Given the description of an element on the screen output the (x, y) to click on. 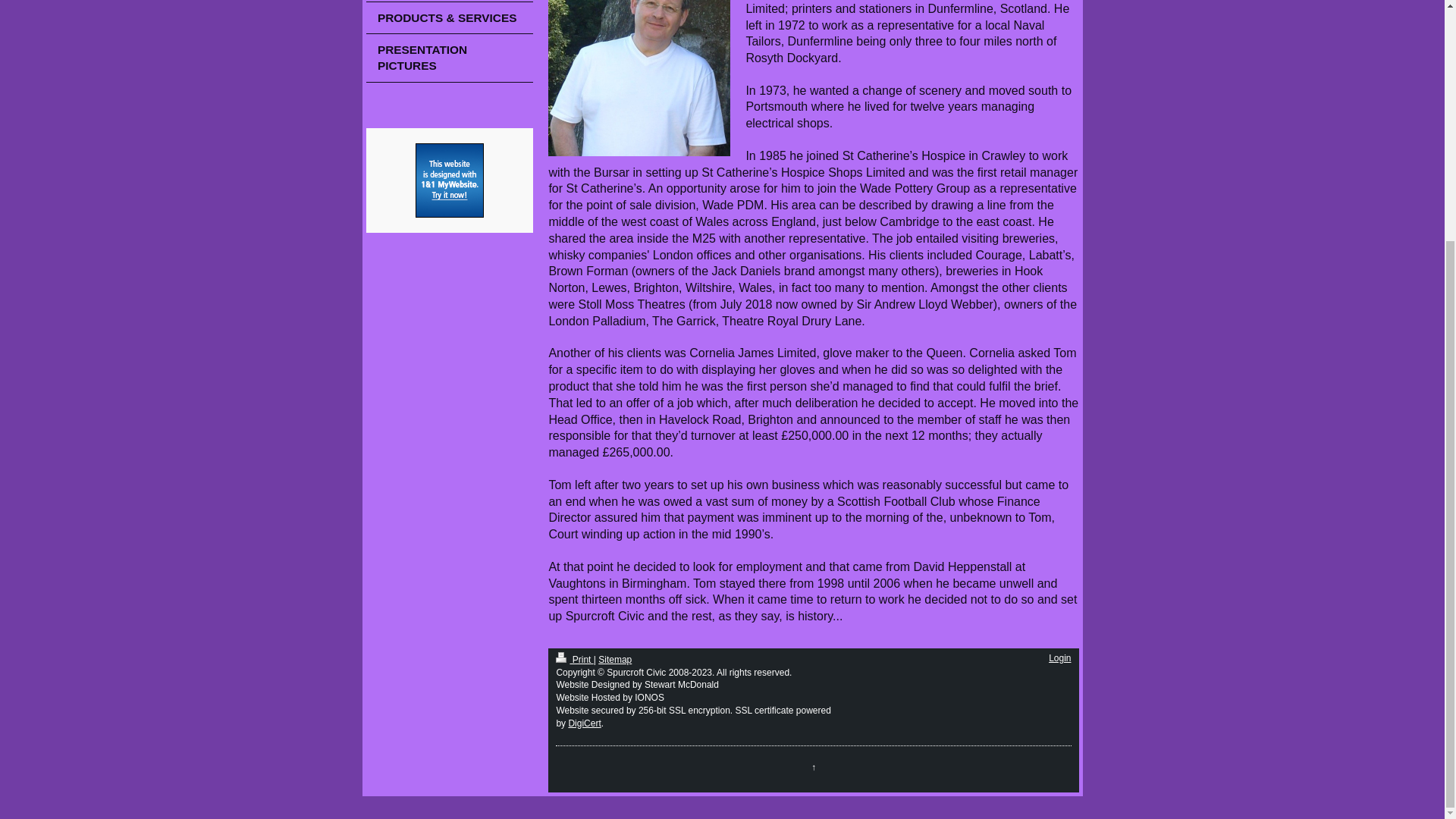
PRESENTATION PICTURES (448, 57)
